Given the description of an element on the screen output the (x, y) to click on. 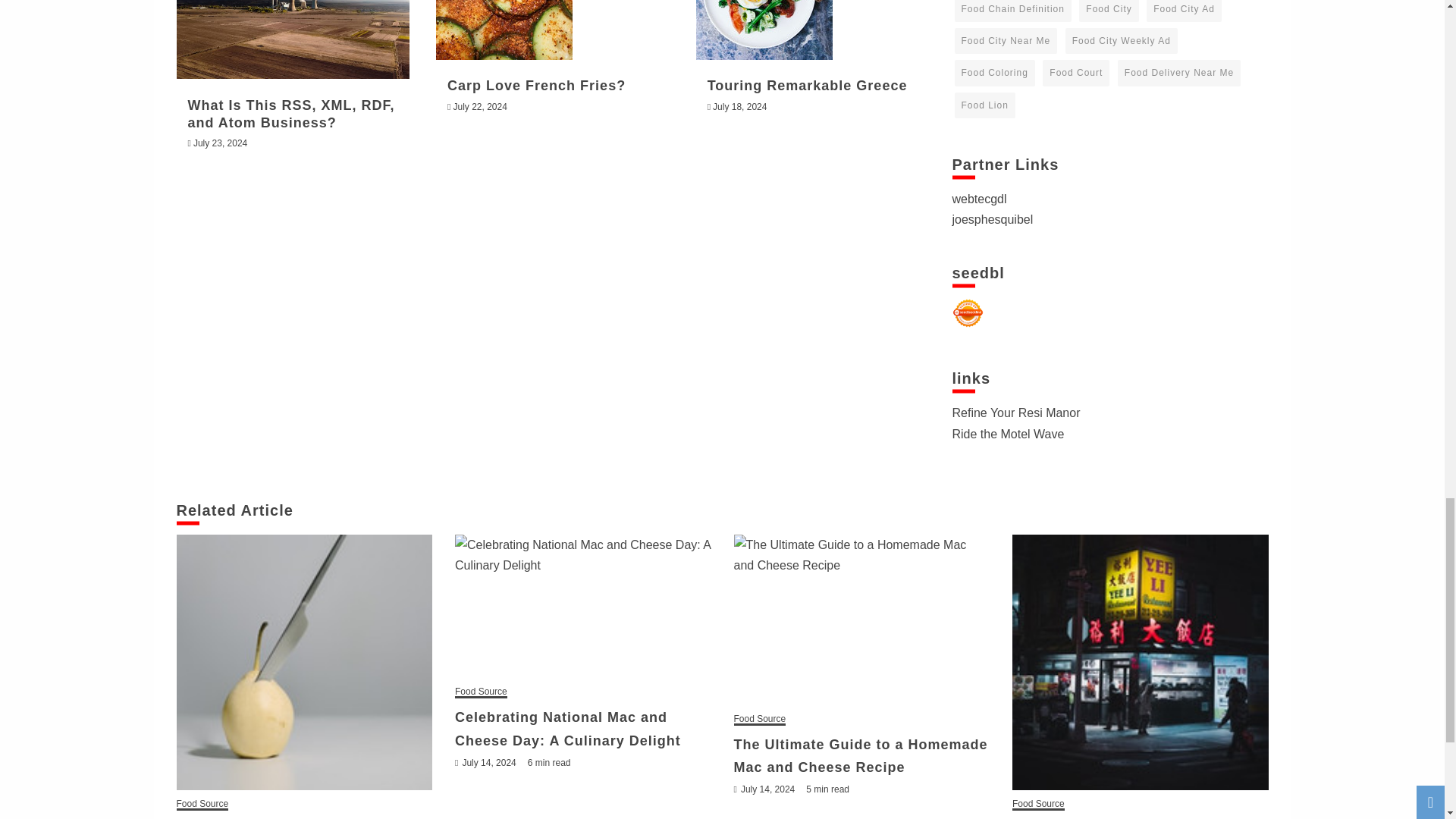
The Ultimate Guide to a Homemade Mac and Cheese Recipe (861, 619)
Seedbacklink (968, 313)
Role Of Food Service Consultants (304, 662)
Celebrating National Mac and Cheese Day: A Culinary Delight (582, 606)
Touring Remarkable Greece (763, 29)
Carp Love French Fries? (503, 29)
What Is This RSS, XML, RDF, and Atom Business? (292, 39)
